Given the description of an element on the screen output the (x, y) to click on. 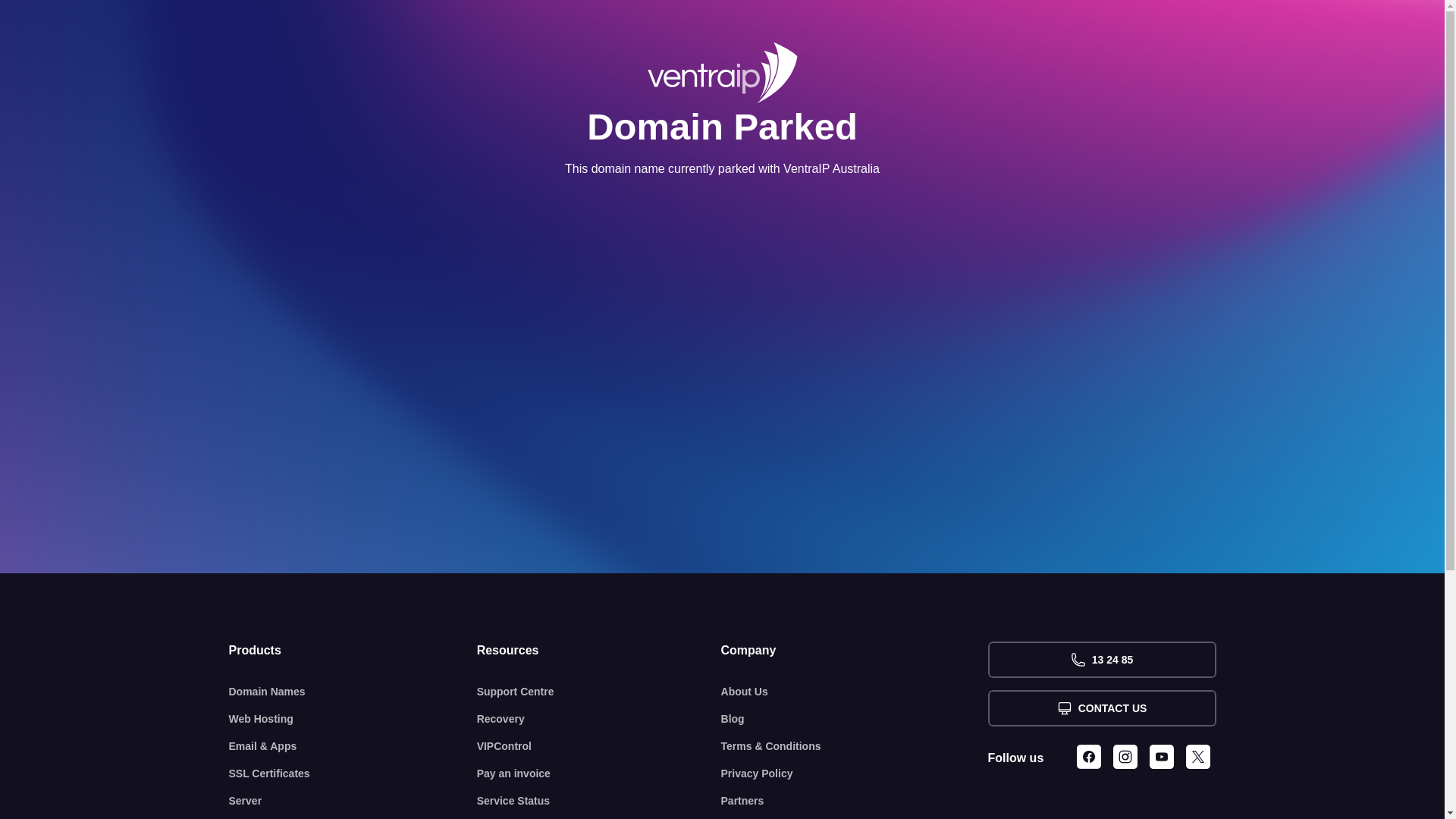
SSL Certificates Element type: text (352, 773)
Service Status Element type: text (598, 800)
Privacy Policy Element type: text (854, 773)
CONTACT US Element type: text (1101, 708)
Recovery Element type: text (598, 718)
Terms & Conditions Element type: text (854, 745)
Web Hosting Element type: text (352, 718)
Server Element type: text (352, 800)
Blog Element type: text (854, 718)
About Us Element type: text (854, 691)
13 24 85 Element type: text (1101, 659)
Email & Apps Element type: text (352, 745)
Pay an invoice Element type: text (598, 773)
Support Centre Element type: text (598, 691)
Domain Names Element type: text (352, 691)
VIPControl Element type: text (598, 745)
Partners Element type: text (854, 800)
